Given the description of an element on the screen output the (x, y) to click on. 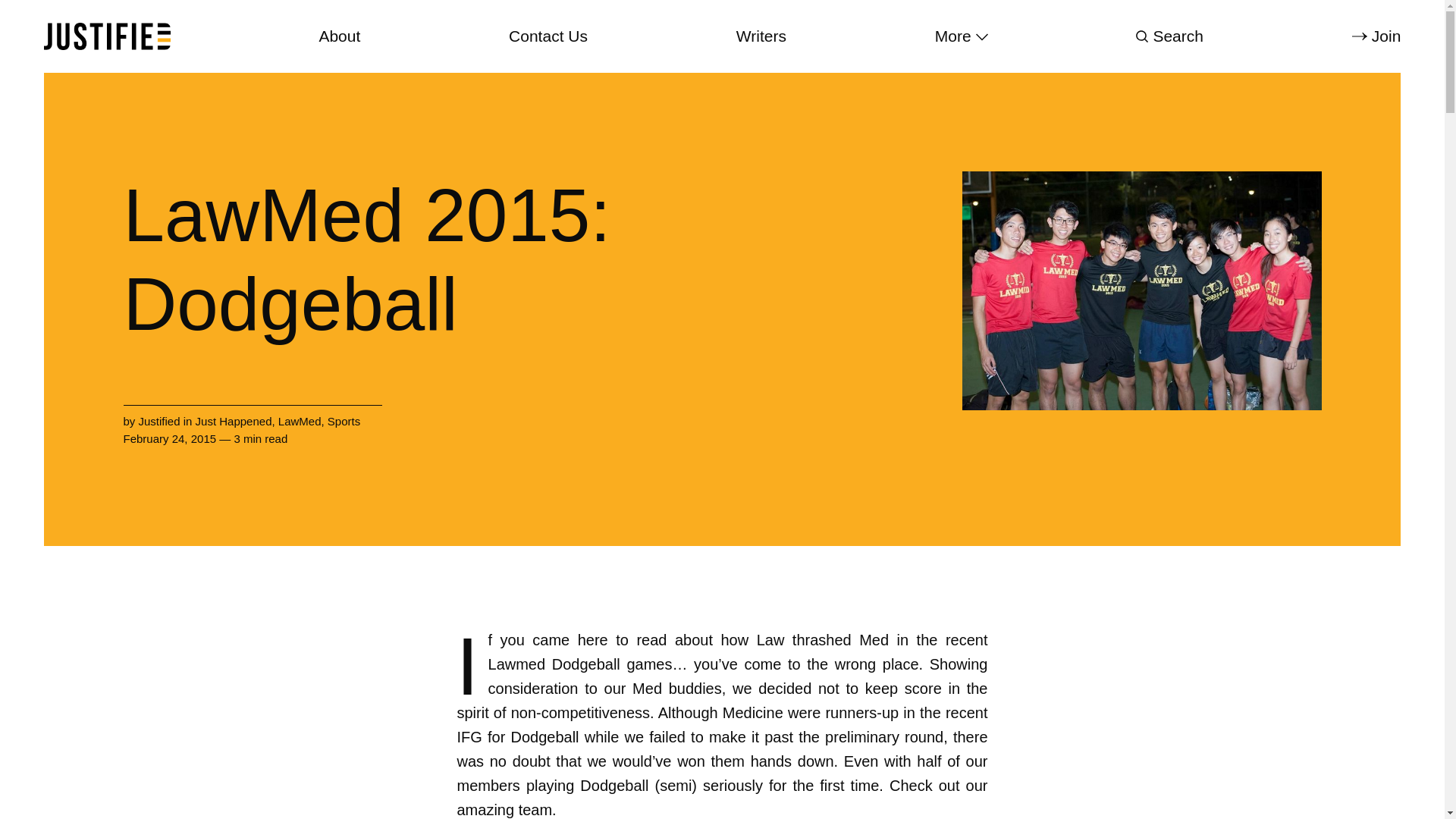
Contact Us (548, 36)
Writers (761, 36)
Sports (343, 420)
Justified (159, 420)
LawMed (299, 420)
Join (1376, 36)
About (338, 36)
Just Happened (233, 420)
